Given the description of an element on the screen output the (x, y) to click on. 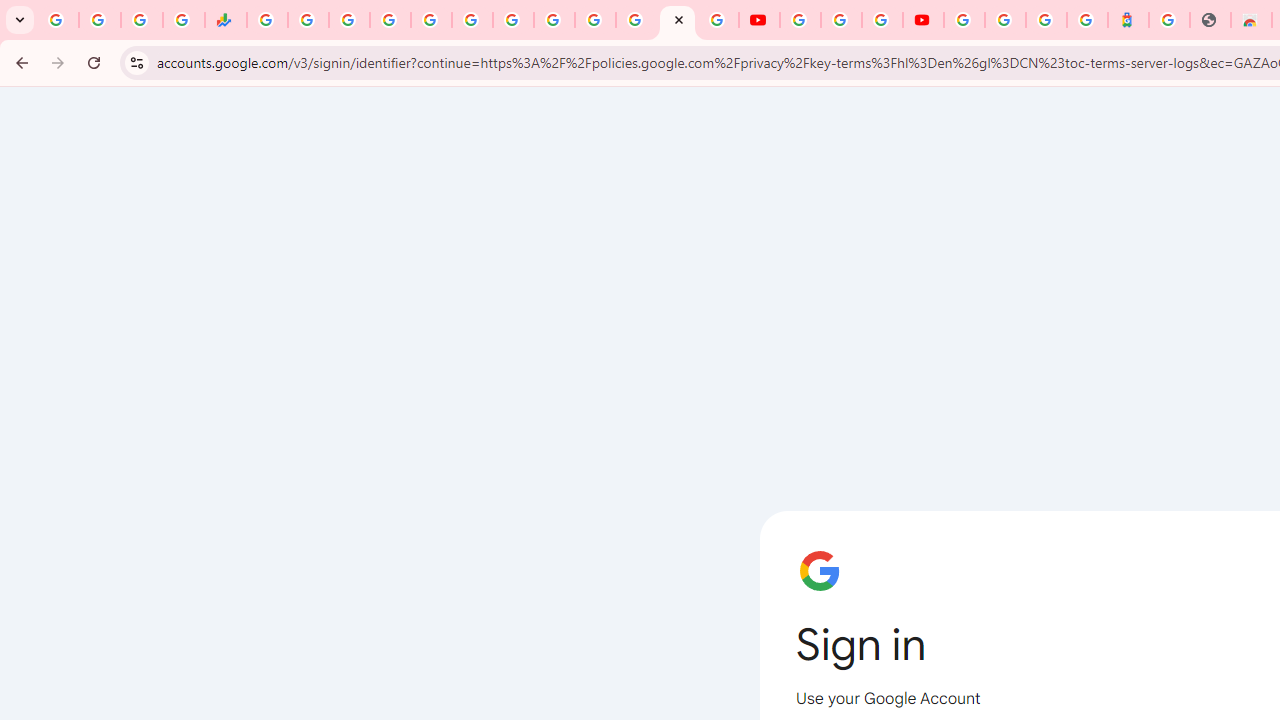
Sign in - Google Accounts (964, 20)
Google Account Help (840, 20)
Privacy Checkup (717, 20)
Sign in - Google Accounts (1005, 20)
YouTube (553, 20)
